Given the description of an element on the screen output the (x, y) to click on. 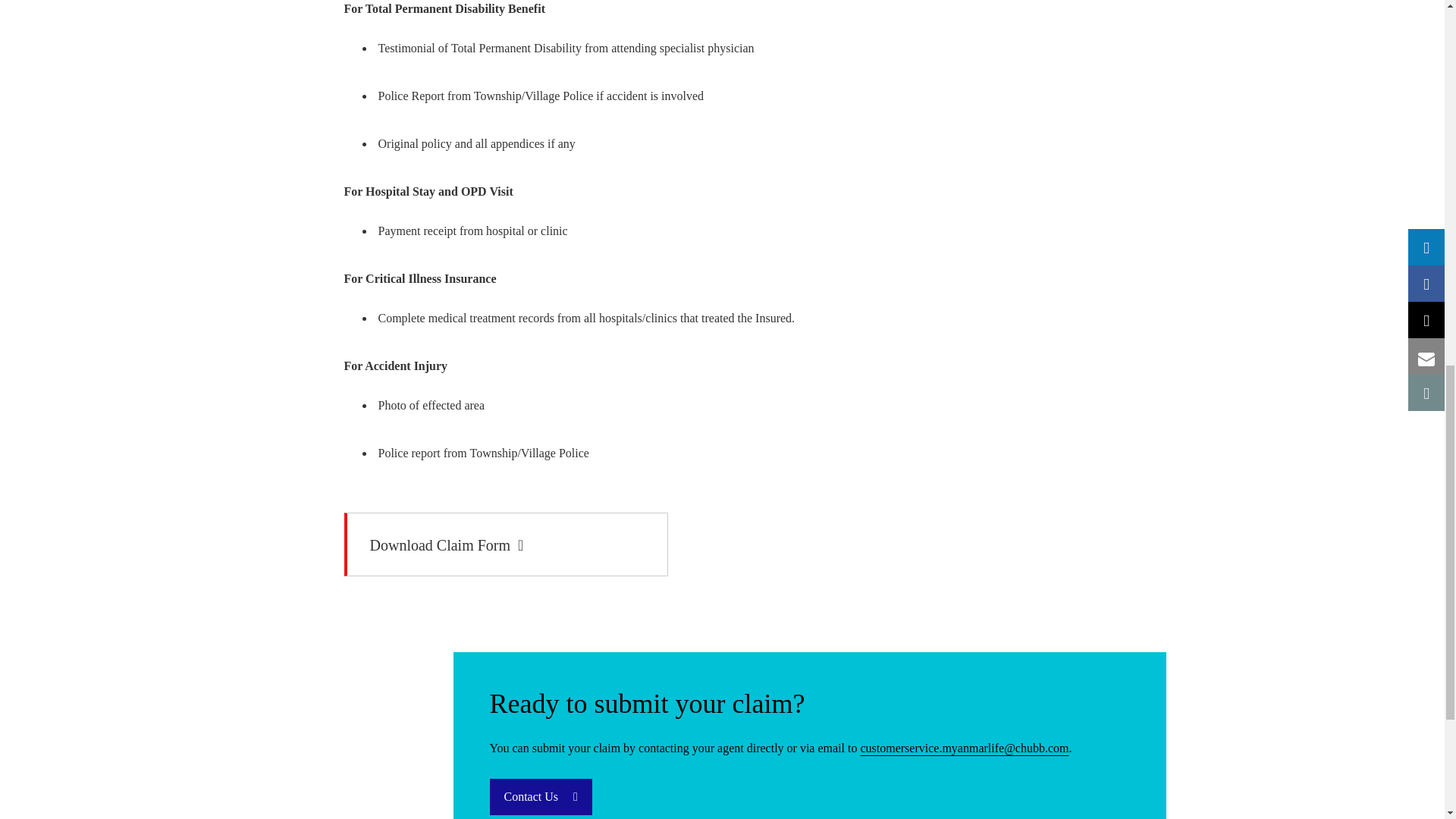
Contact Us (540, 796)
Download Claim Form (505, 544)
Contact Us (540, 796)
Download Claim Form (505, 544)
